Given the description of an element on the screen output the (x, y) to click on. 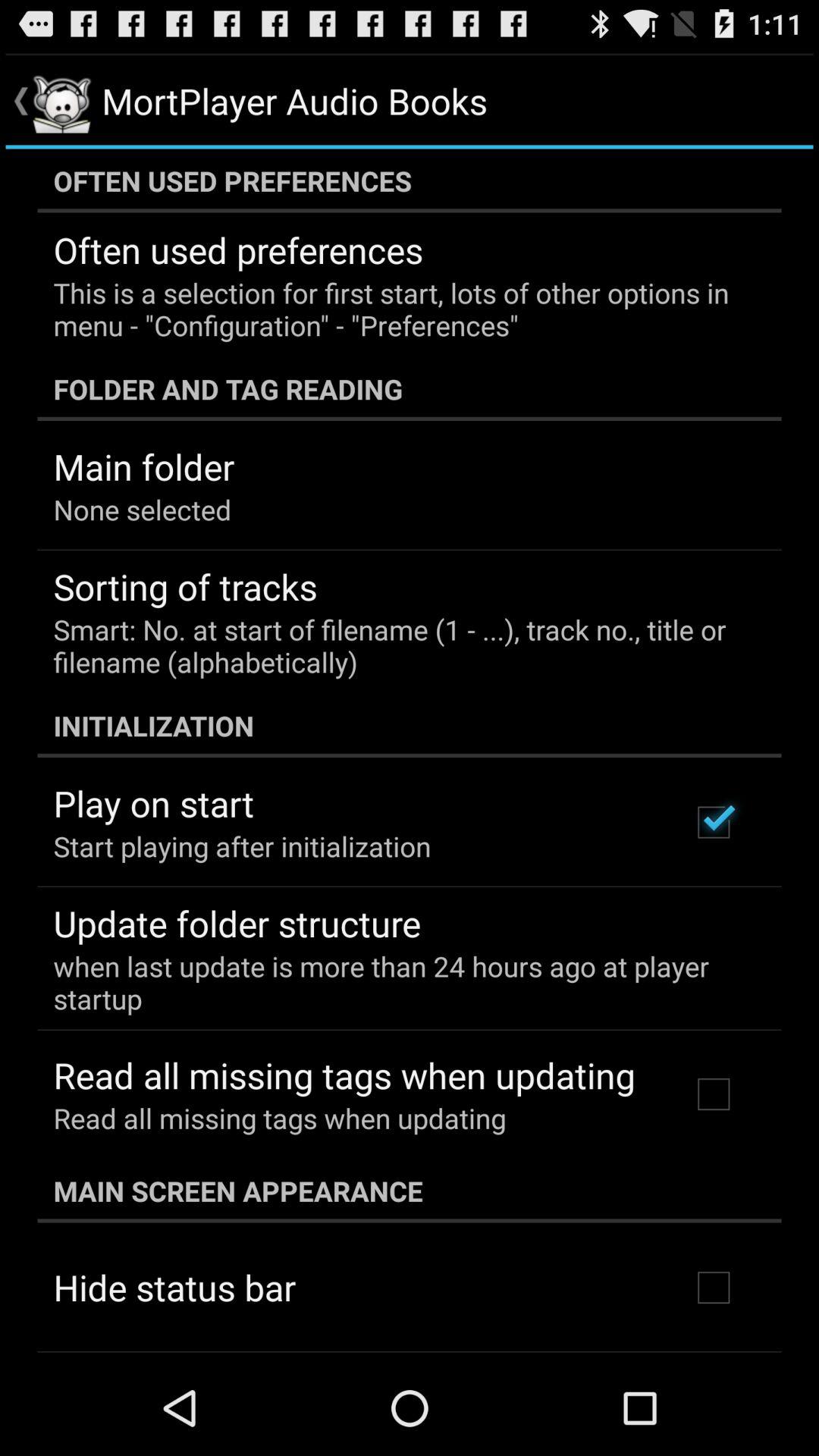
turn on app above the none selected item (143, 466)
